Given the description of an element on the screen output the (x, y) to click on. 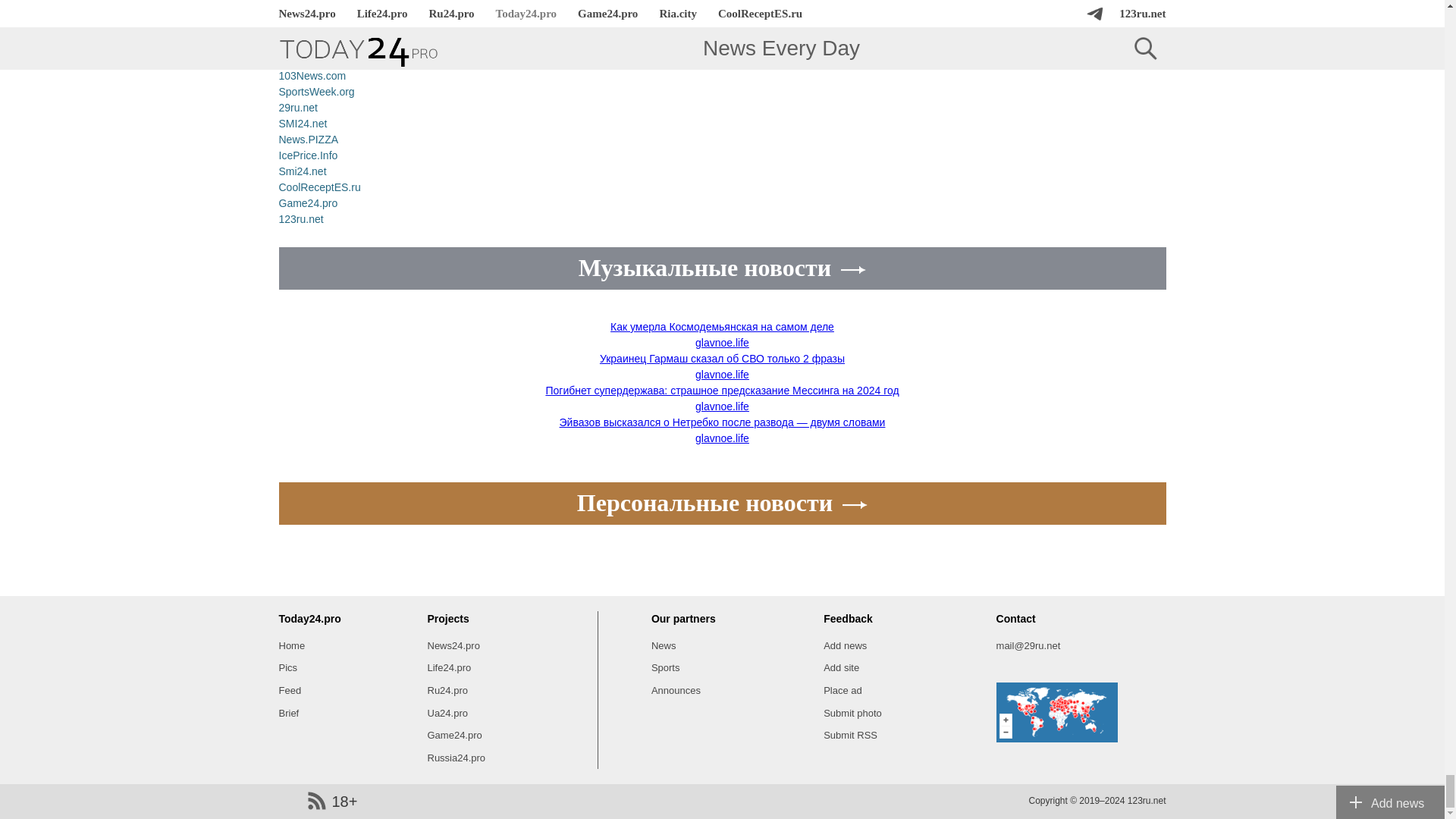
LiveInternet (290, 800)
